Given the description of an element on the screen output the (x, y) to click on. 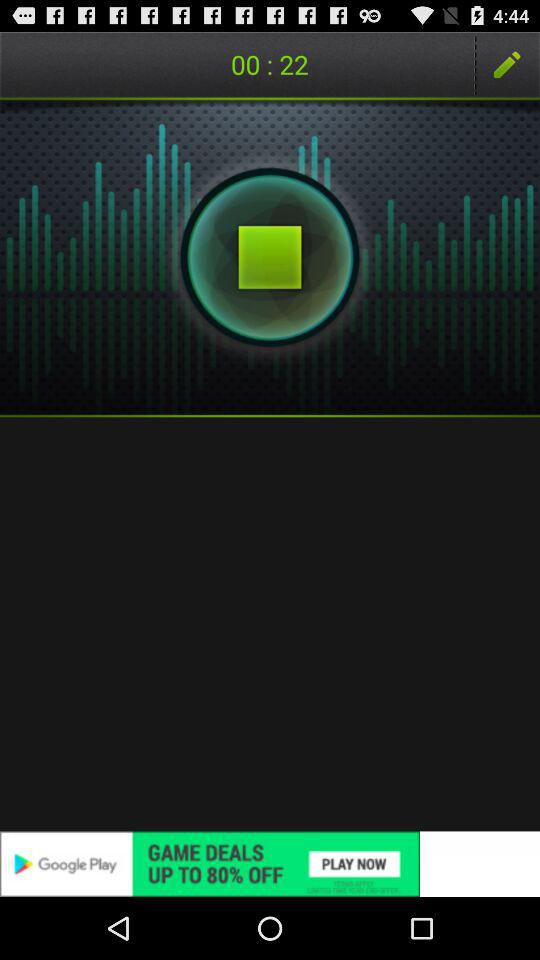
launch the icon at the bottom (270, 863)
